Given the description of an element on the screen output the (x, y) to click on. 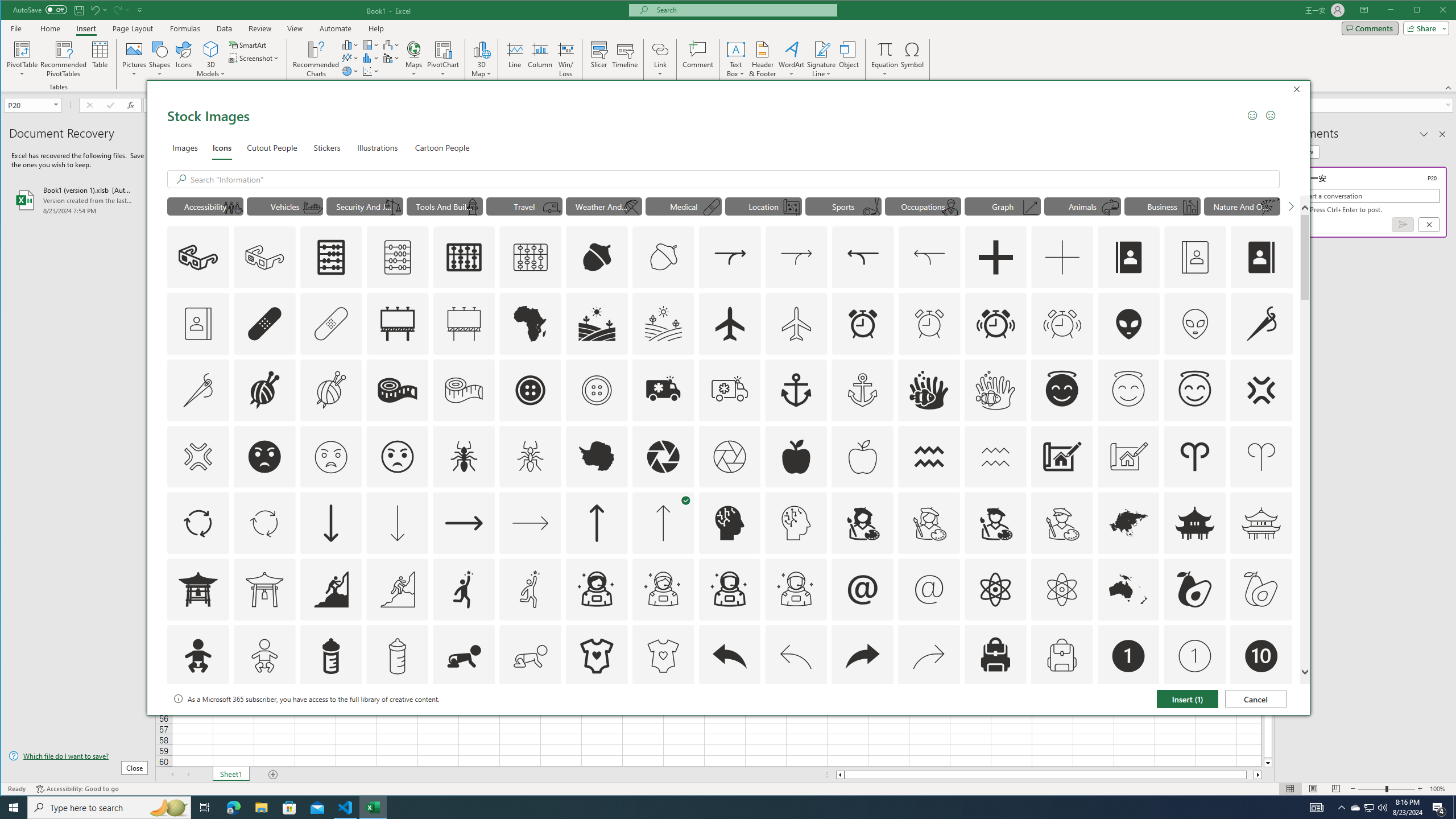
AutomationID: Icons_Baby (197, 655)
AutomationID: Icons_Aries_M (1260, 456)
AutomationID: Icons_Trailer_M (551, 207)
AutomationID: Icons_AngryFace_M (330, 456)
AutomationID: Icons_Ant (464, 456)
Images (184, 147)
AutomationID: Icons_Atom_M (1061, 589)
AutomationID: 4105 (1316, 807)
